Given the description of an element on the screen output the (x, y) to click on. 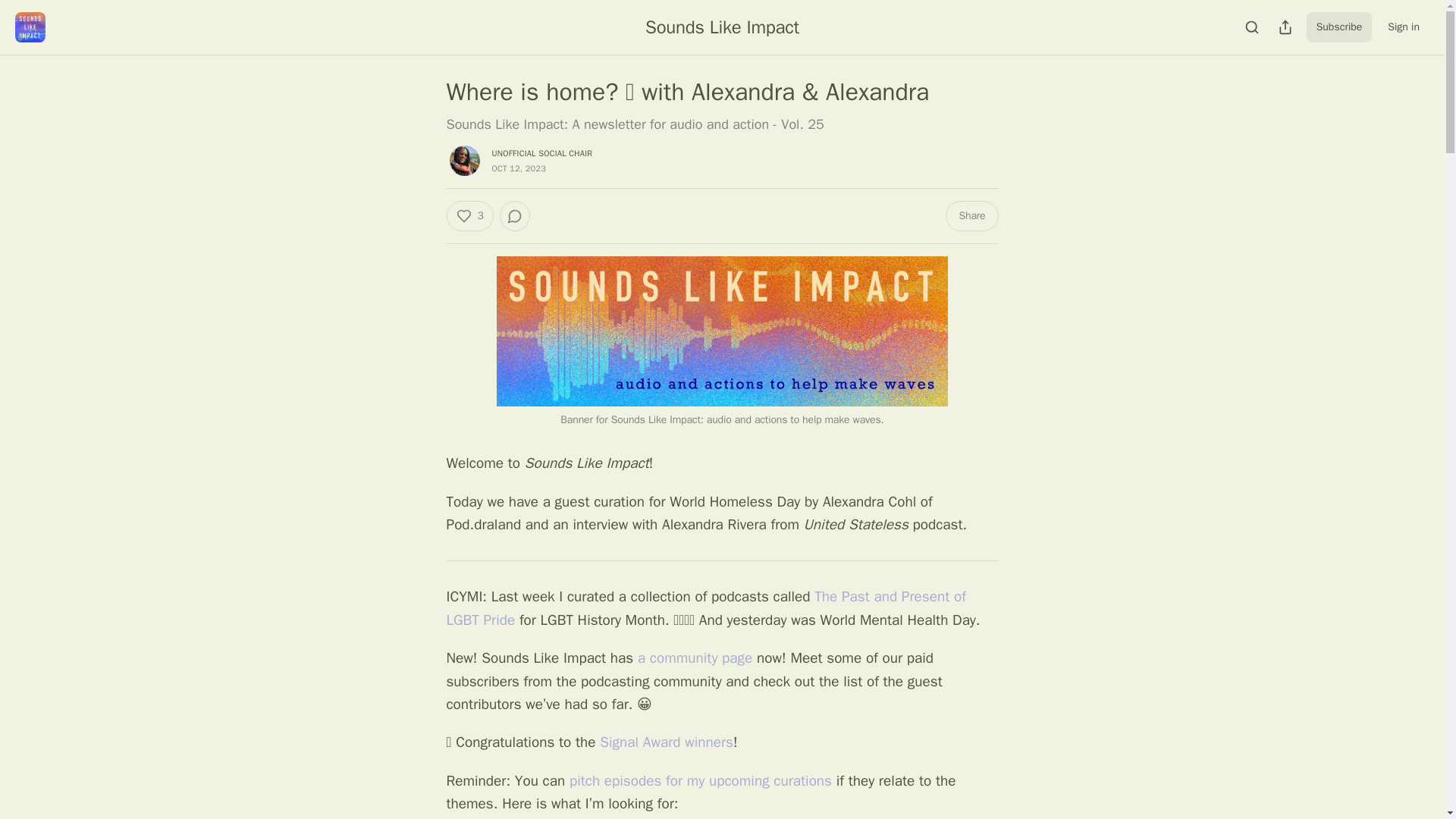
a community page (694, 658)
3 (469, 215)
Signal Award winners (666, 742)
Sign in (1403, 27)
UNOFFICIAL SOCIAL CHAIR (542, 153)
Subscribe (1339, 27)
Sounds Like Impact (722, 26)
The Past and Present of LGBT Pride (705, 608)
pitch episodes for my upcoming curations (700, 781)
Share (970, 215)
